Given the description of an element on the screen output the (x, y) to click on. 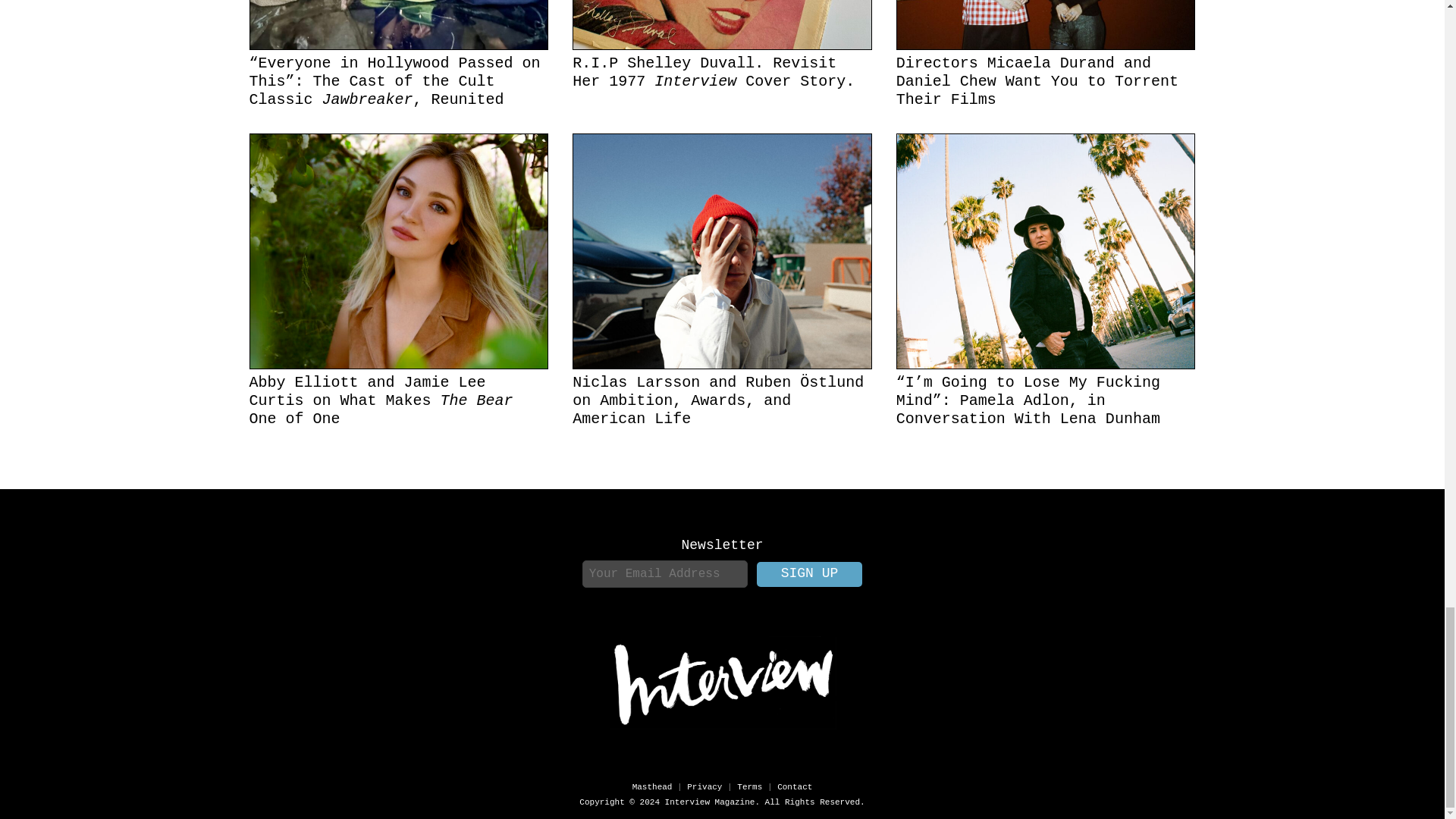
Sign up (810, 574)
